Given the description of an element on the screen output the (x, y) to click on. 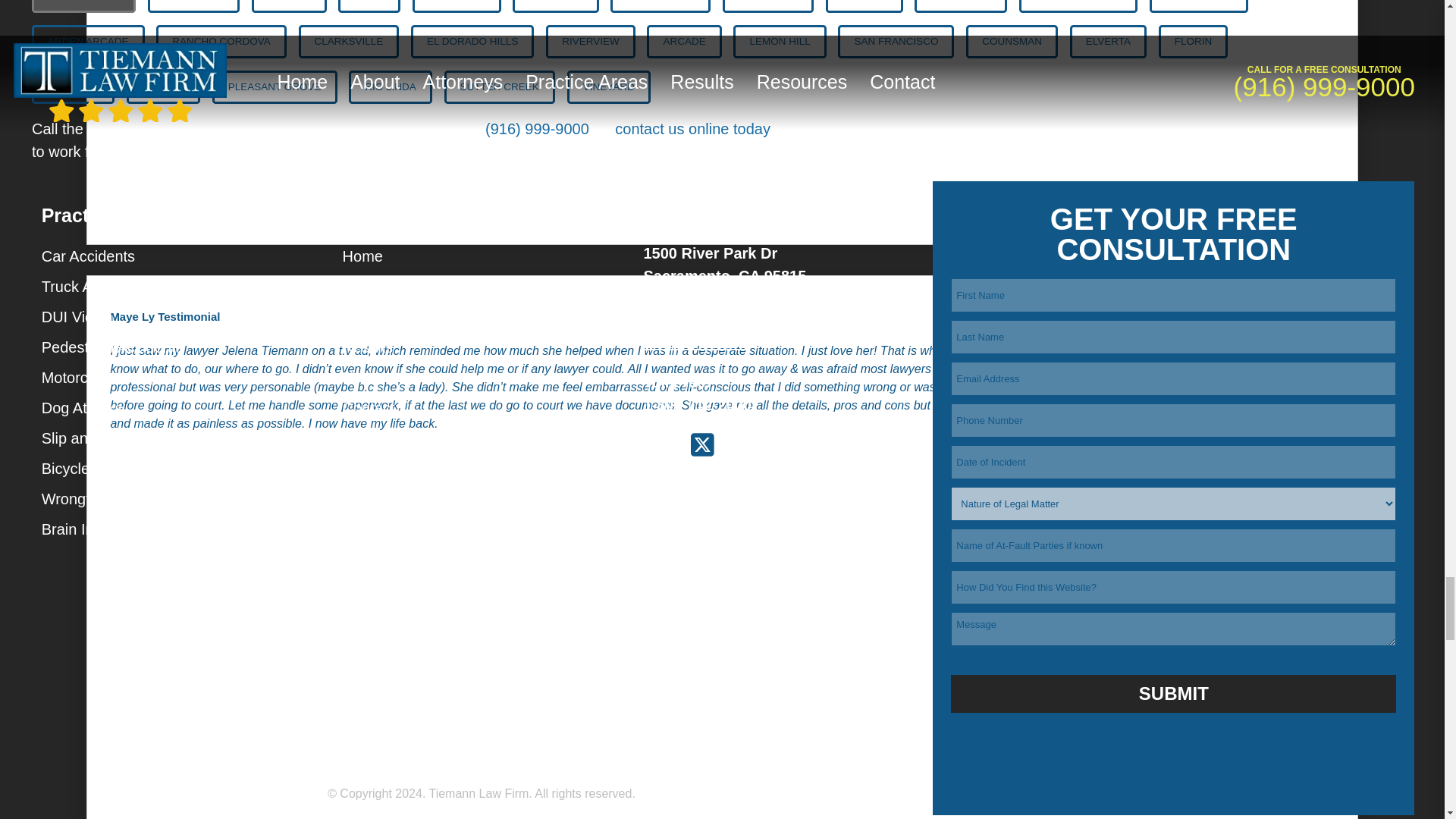
Submit (1173, 693)
